Given the description of an element on the screen output the (x, y) to click on. 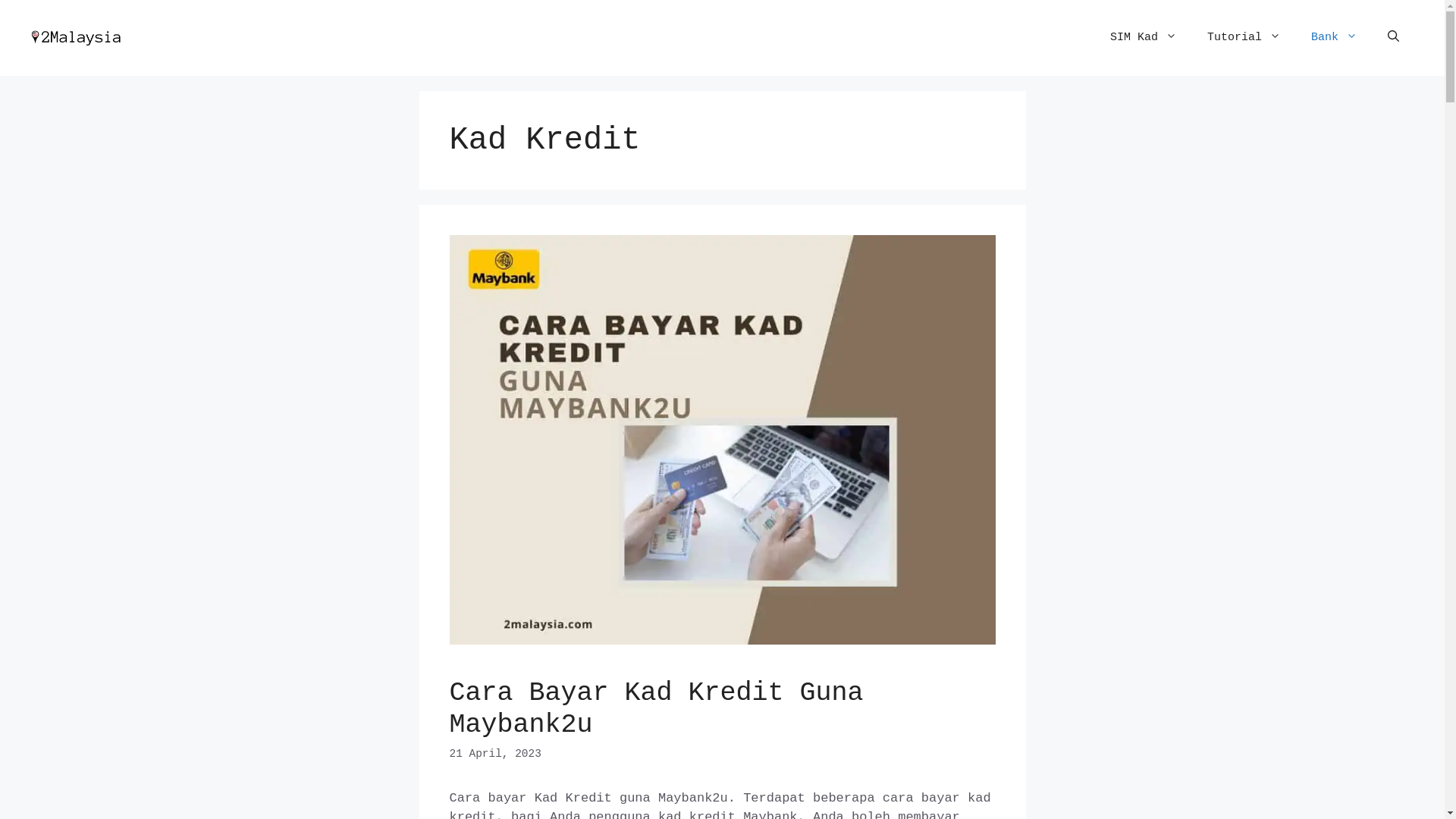
SIM Kad Element type: text (1143, 37)
Tutorial Element type: text (1243, 37)
Bank Element type: text (1333, 37)
Cara Bayar Kad Kredit Guna Maybank2u Element type: text (655, 708)
